Given the description of an element on the screen output the (x, y) to click on. 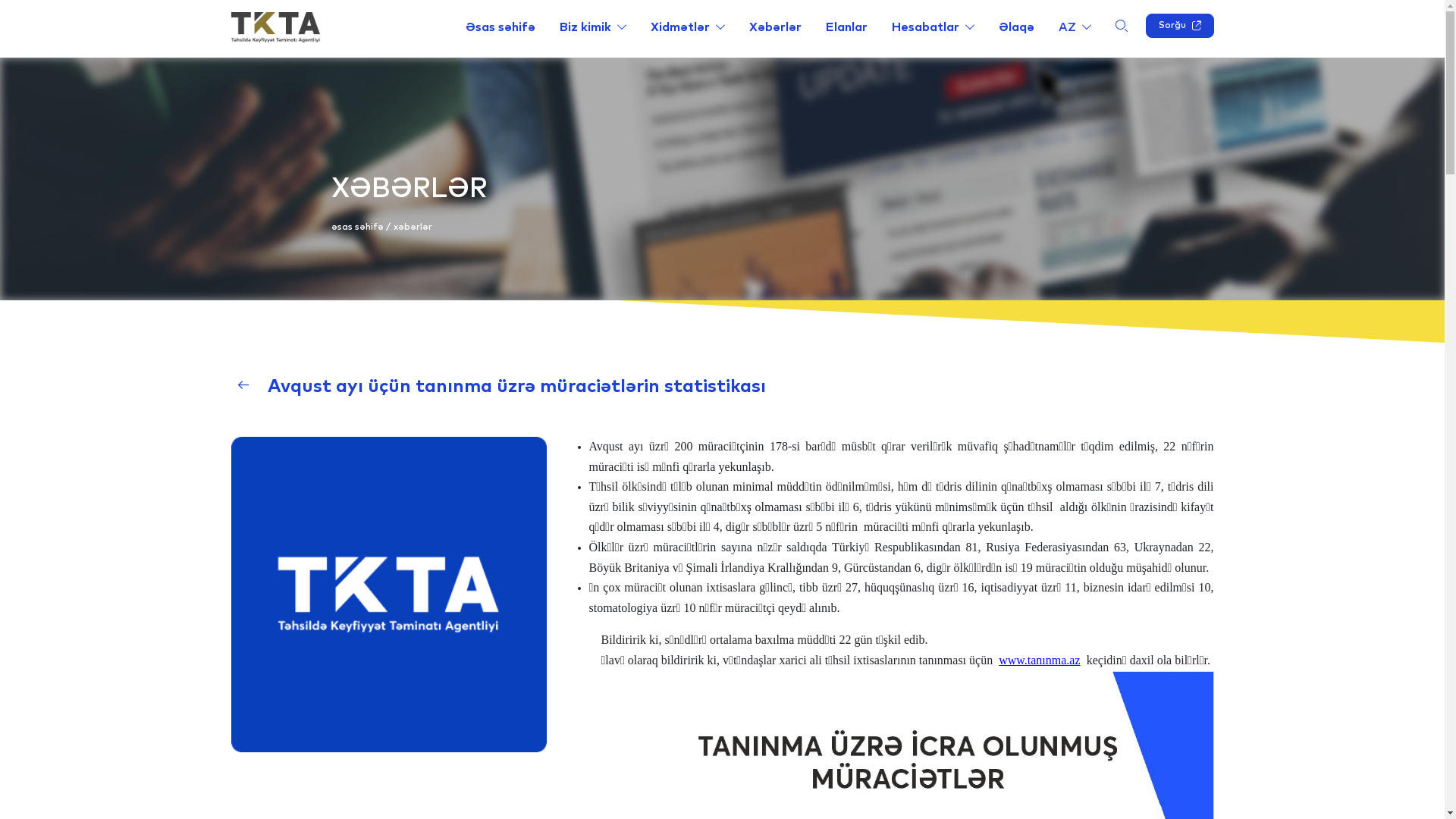
Biz kimik Element type: text (592, 26)
AZ Element type: text (1074, 26)
Hesabatlar Element type: text (932, 26)
Elanlar Element type: text (845, 26)
